Given the description of an element on the screen output the (x, y) to click on. 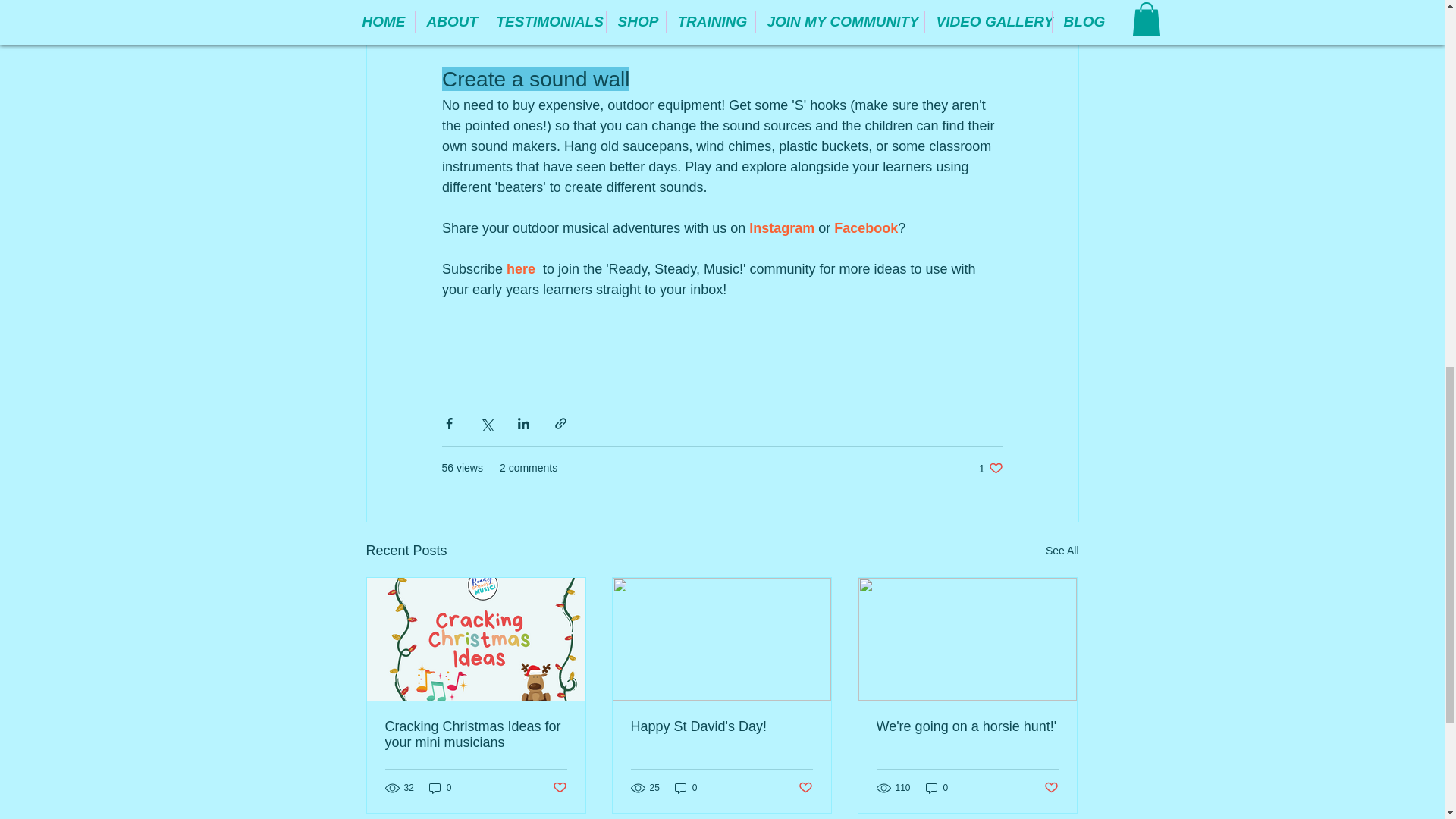
Cracking Christmas Ideas for your mini musicians (476, 735)
here (990, 468)
Post not marked as liked (520, 268)
0 (558, 788)
Facebook (440, 788)
Instagram (866, 227)
See All (781, 227)
